Given the description of an element on the screen output the (x, y) to click on. 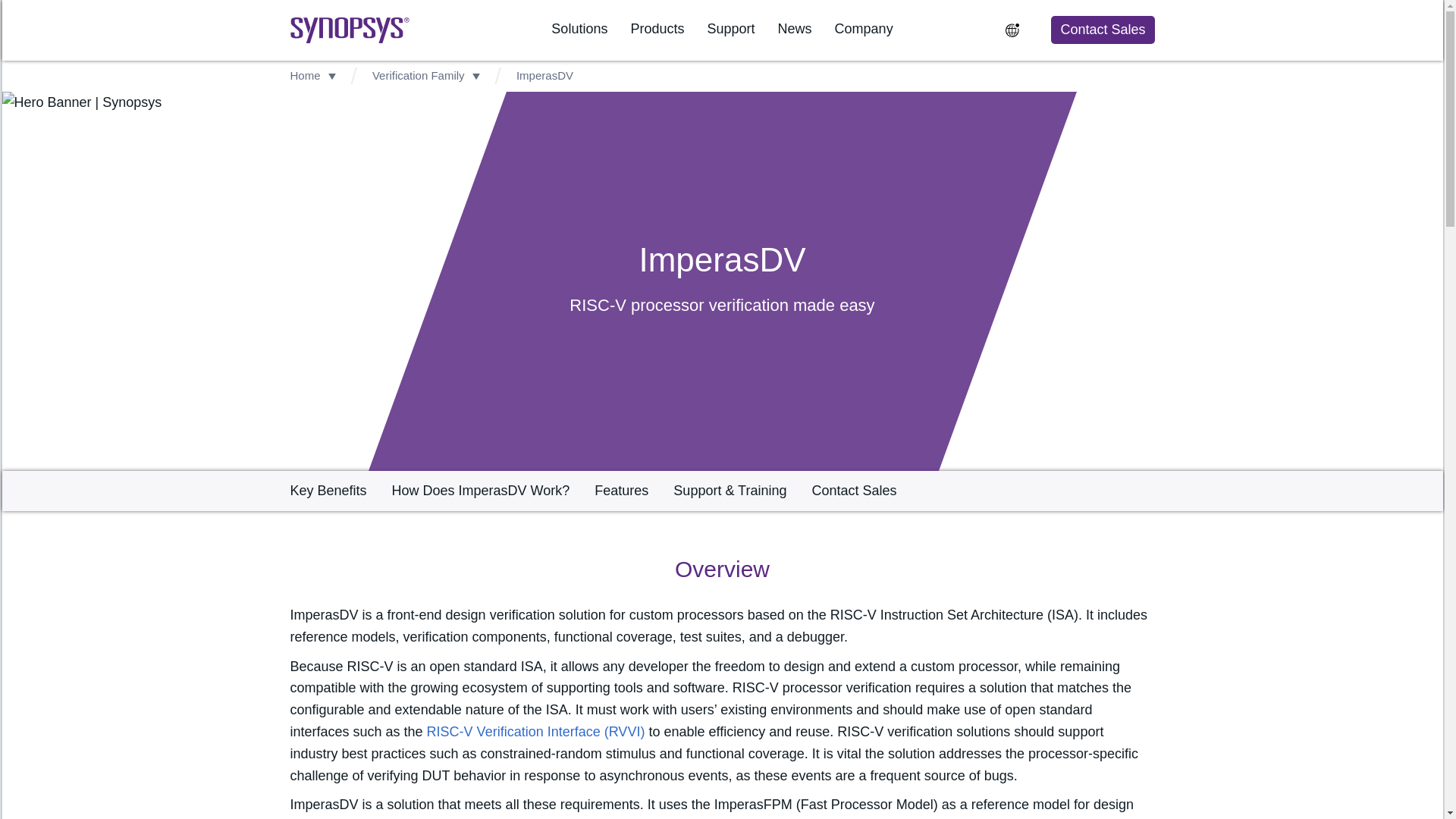
Solutions (579, 28)
News (794, 28)
Products (657, 28)
Support (730, 28)
Company (863, 28)
Contact Sales (1101, 29)
